Given the description of an element on the screen output the (x, y) to click on. 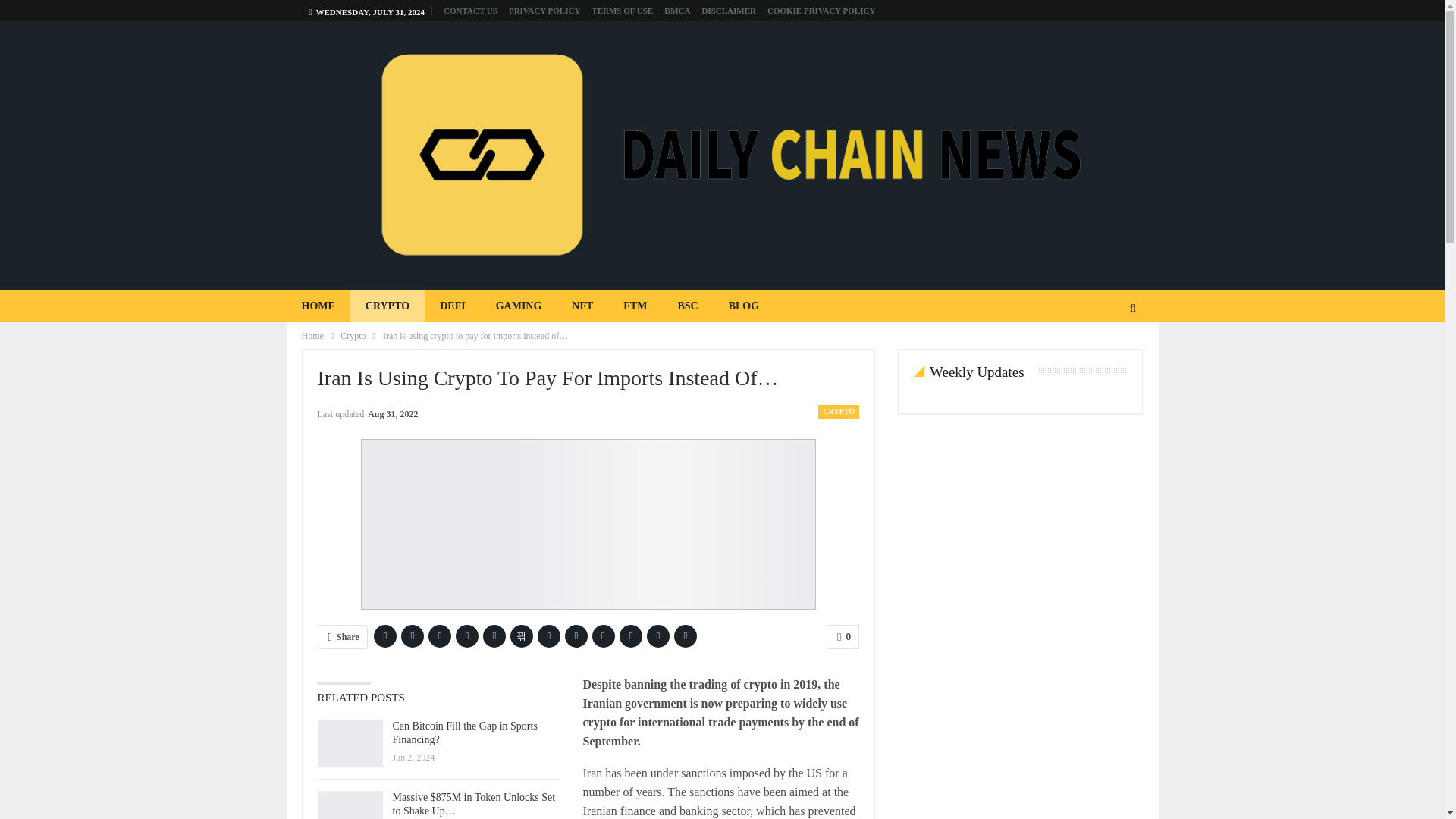
CONTACT US (470, 10)
Crypto (352, 335)
Home (312, 335)
COOKIE PRIVACY POLICY (821, 10)
0 (843, 636)
BSC (687, 306)
DEFI (452, 306)
TERMS OF USE (621, 10)
HOME (318, 306)
BLOG (743, 306)
CRYPTO (838, 411)
CRYPTO (387, 306)
GAMING (518, 306)
DISCLAIMER (728, 10)
Can Bitcoin Fill the Gap in Sports Financing? (349, 743)
